Given the description of an element on the screen output the (x, y) to click on. 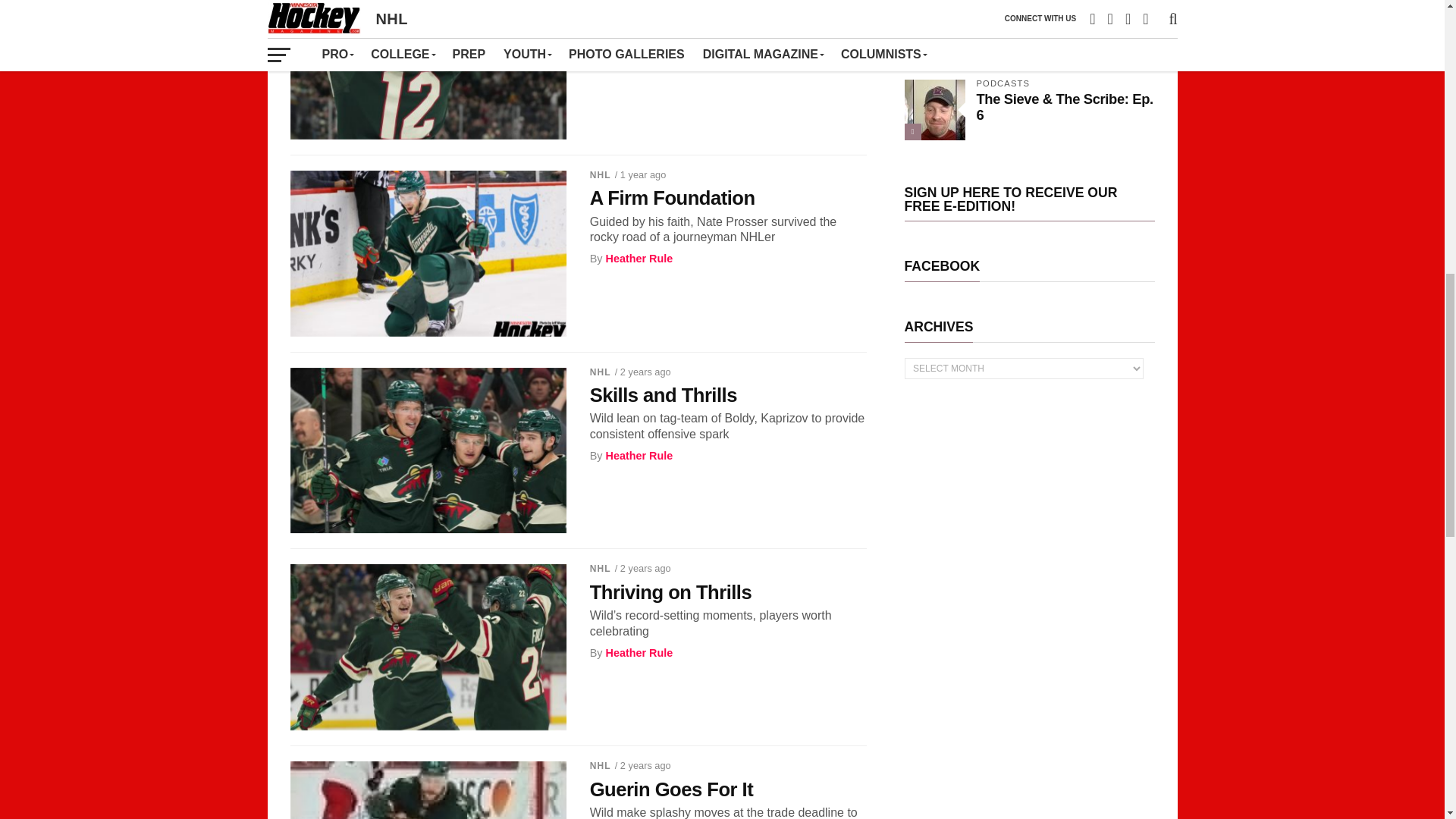
Posts by Heather Rule (638, 455)
Posts by Heather Rule (638, 45)
Posts by Heather Rule (638, 653)
Posts by Heather Rule (638, 258)
